Given the description of an element on the screen output the (x, y) to click on. 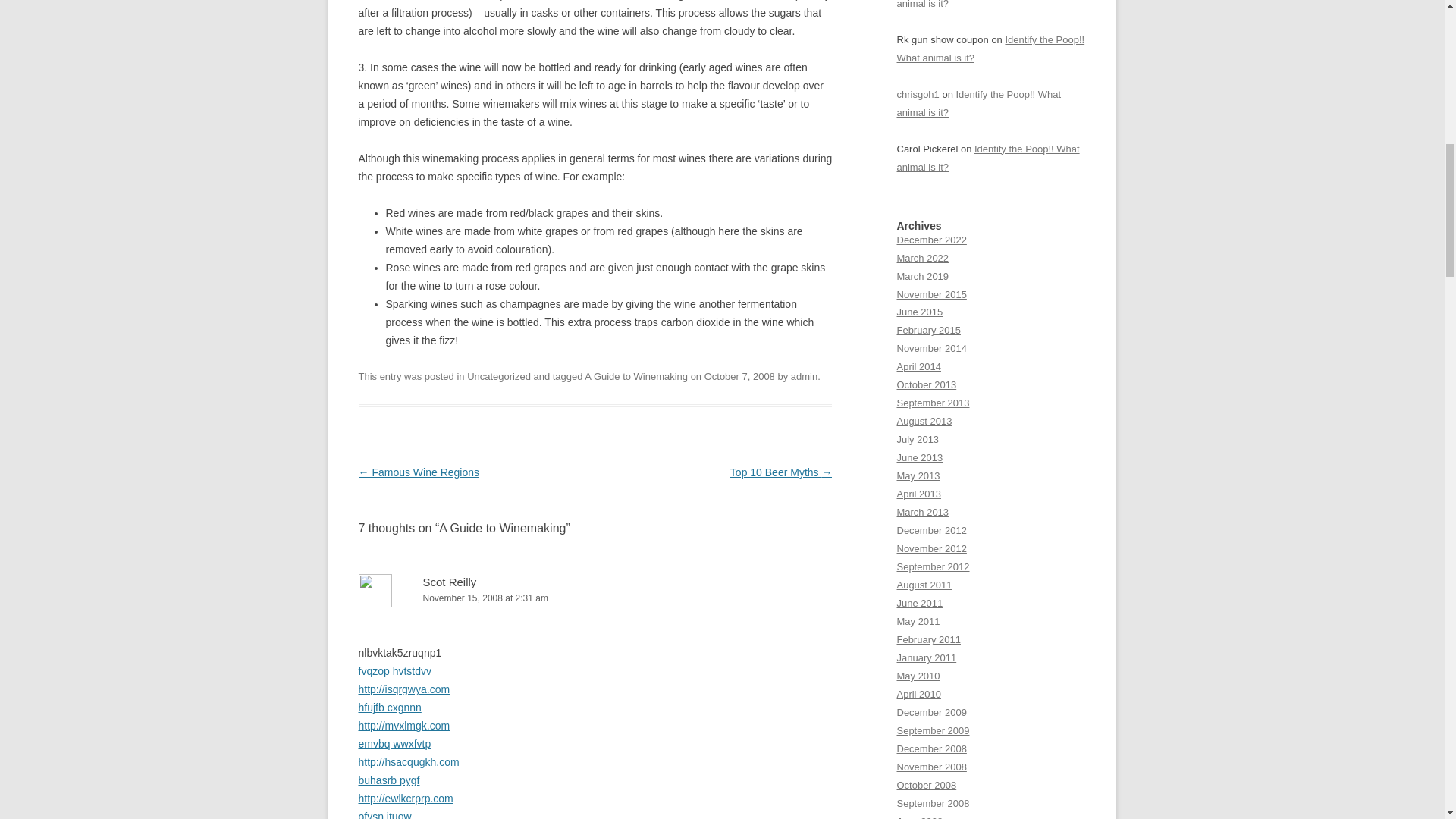
A Guide to Winemaking (636, 376)
Uncategorized (499, 376)
October 7, 2008 (739, 376)
emvbq wwxfvtp (394, 743)
hfujfb cxgnnn (389, 707)
View all posts by admin (803, 376)
November 15, 2008 at 2:31 am (594, 598)
2:56 pm (739, 376)
Scot Reilly (450, 581)
admin (803, 376)
fvqzop hvtstdvv (394, 671)
